Given the description of an element on the screen output the (x, y) to click on. 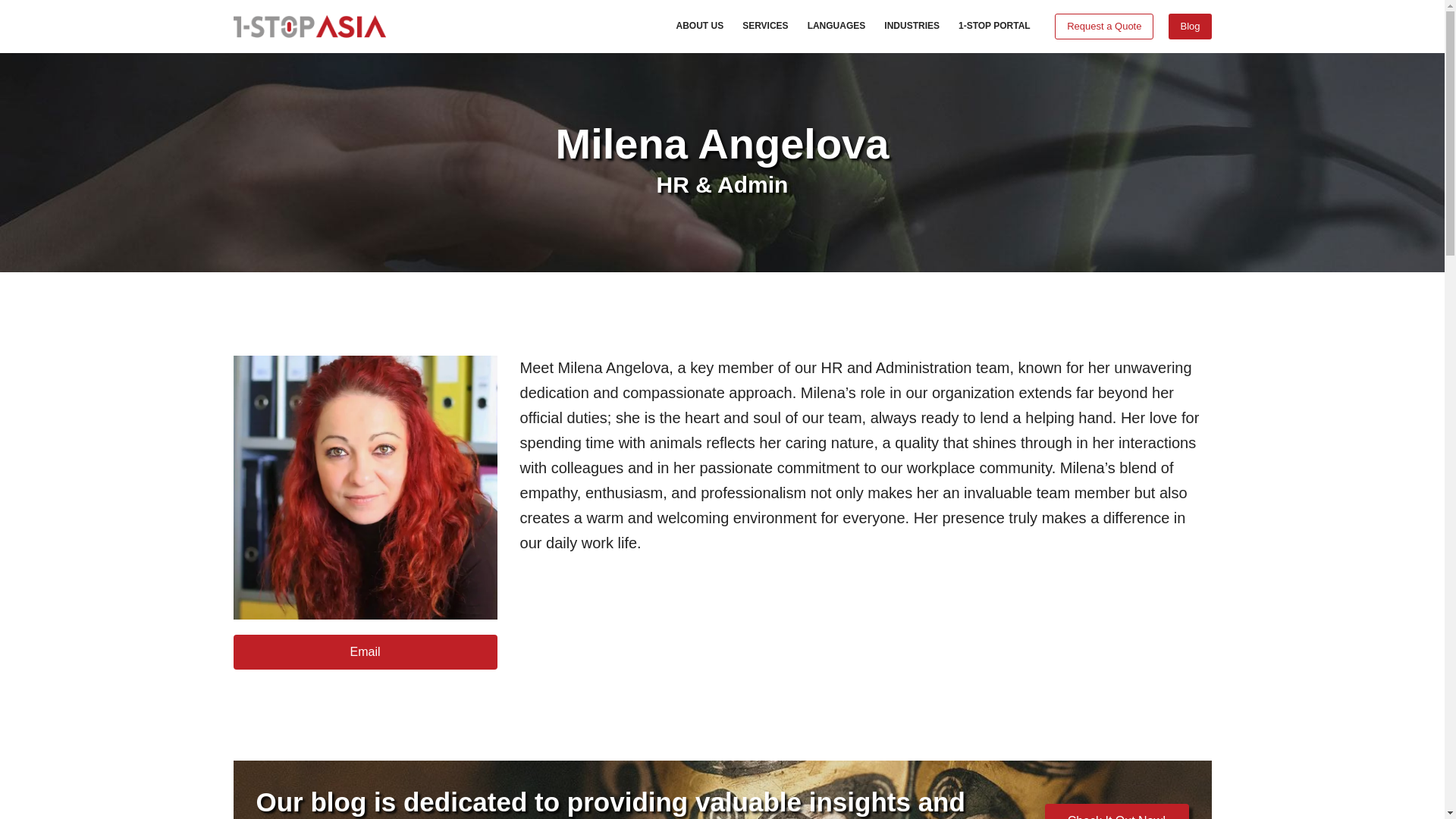
Blog (1190, 26)
Email (364, 651)
Milena Angelova (364, 487)
SERVICES (765, 26)
Skip to content (15, 7)
Check It Out Now! (1117, 811)
INDUSTRIES (912, 26)
LANGUAGES (836, 26)
ABOUT US (699, 26)
1-STOP PORTAL (994, 26)
Request a Quote (1103, 26)
